Given the description of an element on the screen output the (x, y) to click on. 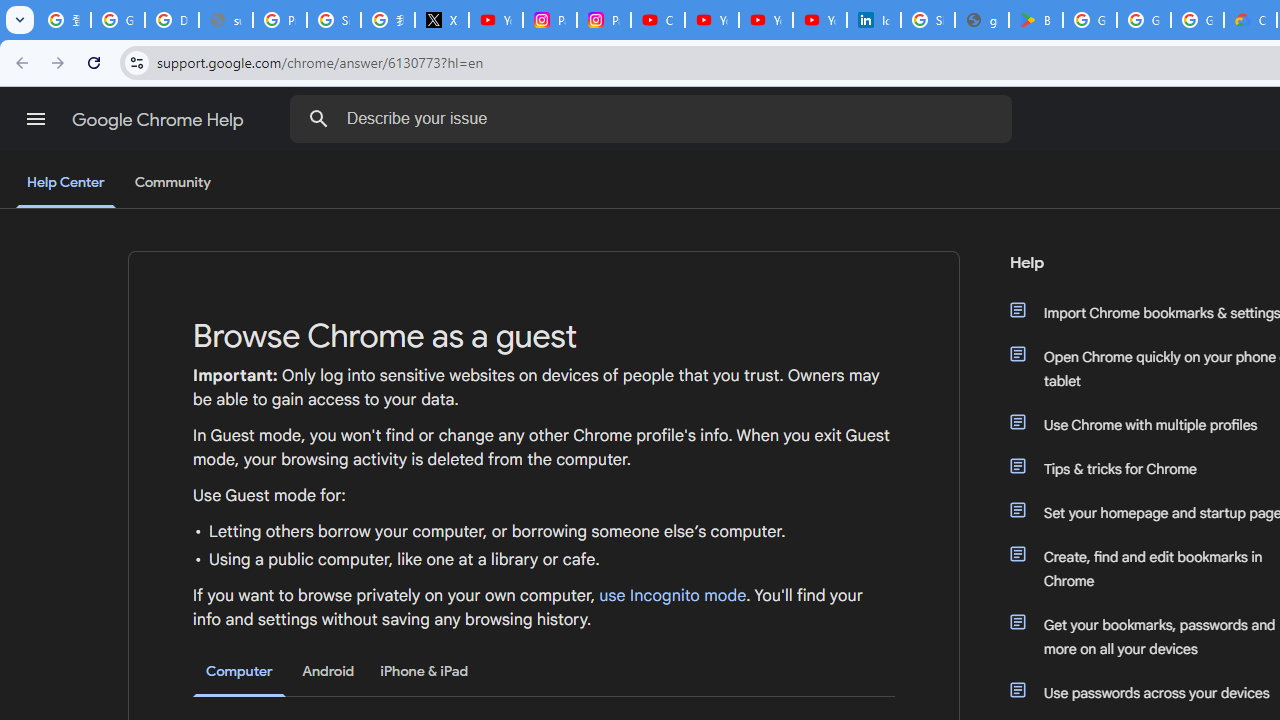
X (441, 20)
Android (328, 671)
Google Workspace - Specific Terms (1144, 20)
Bluey: Let's Play! - Apps on Google Play (1035, 20)
YouTube Culture & Trends - YouTube Top 10, 2021 (765, 20)
YouTube Culture & Trends - YouTube Top 10, 2021 (819, 20)
